Given the description of an element on the screen output the (x, y) to click on. 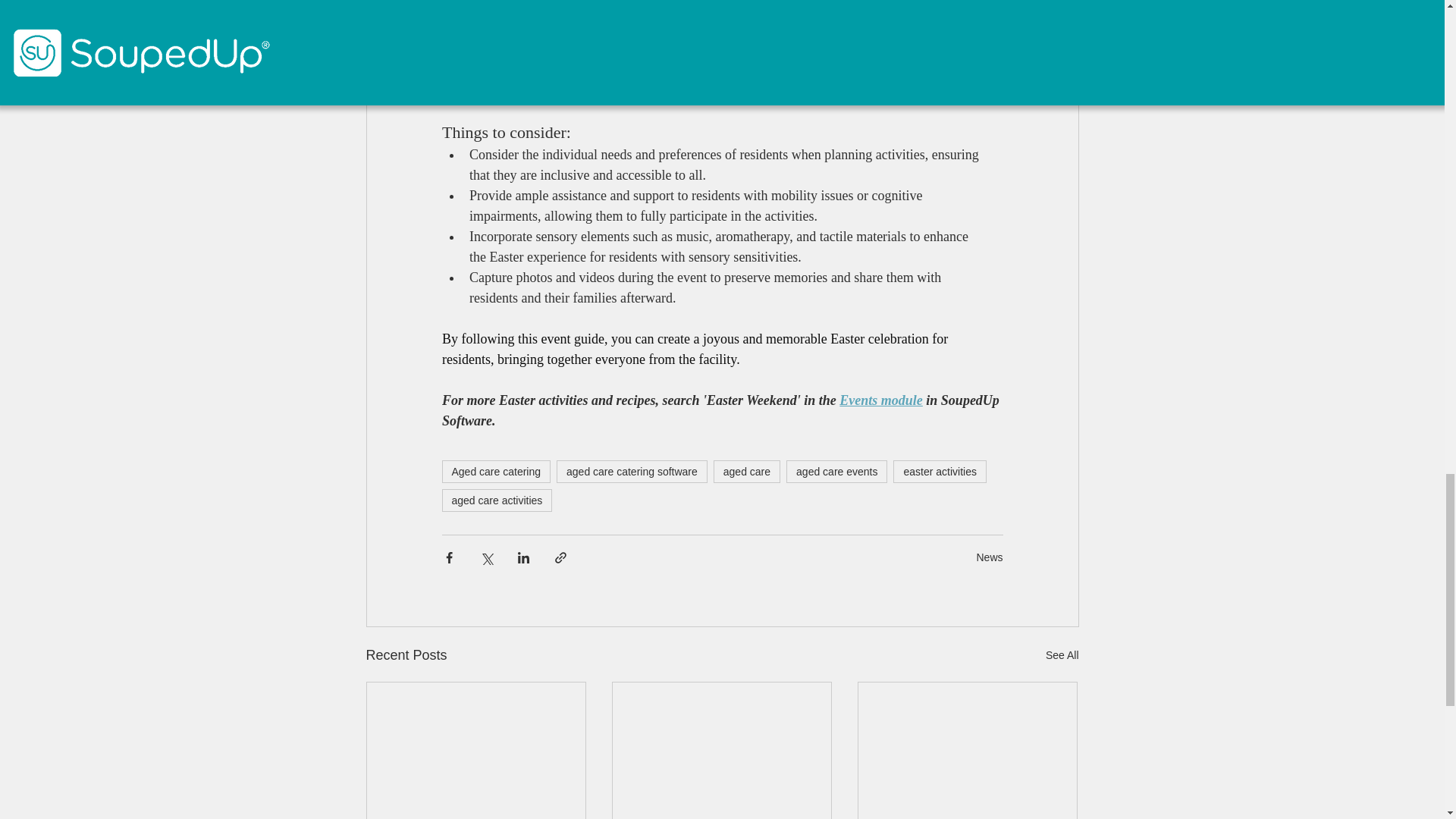
See All (1061, 655)
News (989, 557)
Events module (881, 400)
aged care events (836, 471)
aged care (746, 471)
easter activities (939, 471)
aged care catering software (631, 471)
Aged care catering (495, 471)
aged care activities (496, 499)
